Given the description of an element on the screen output the (x, y) to click on. 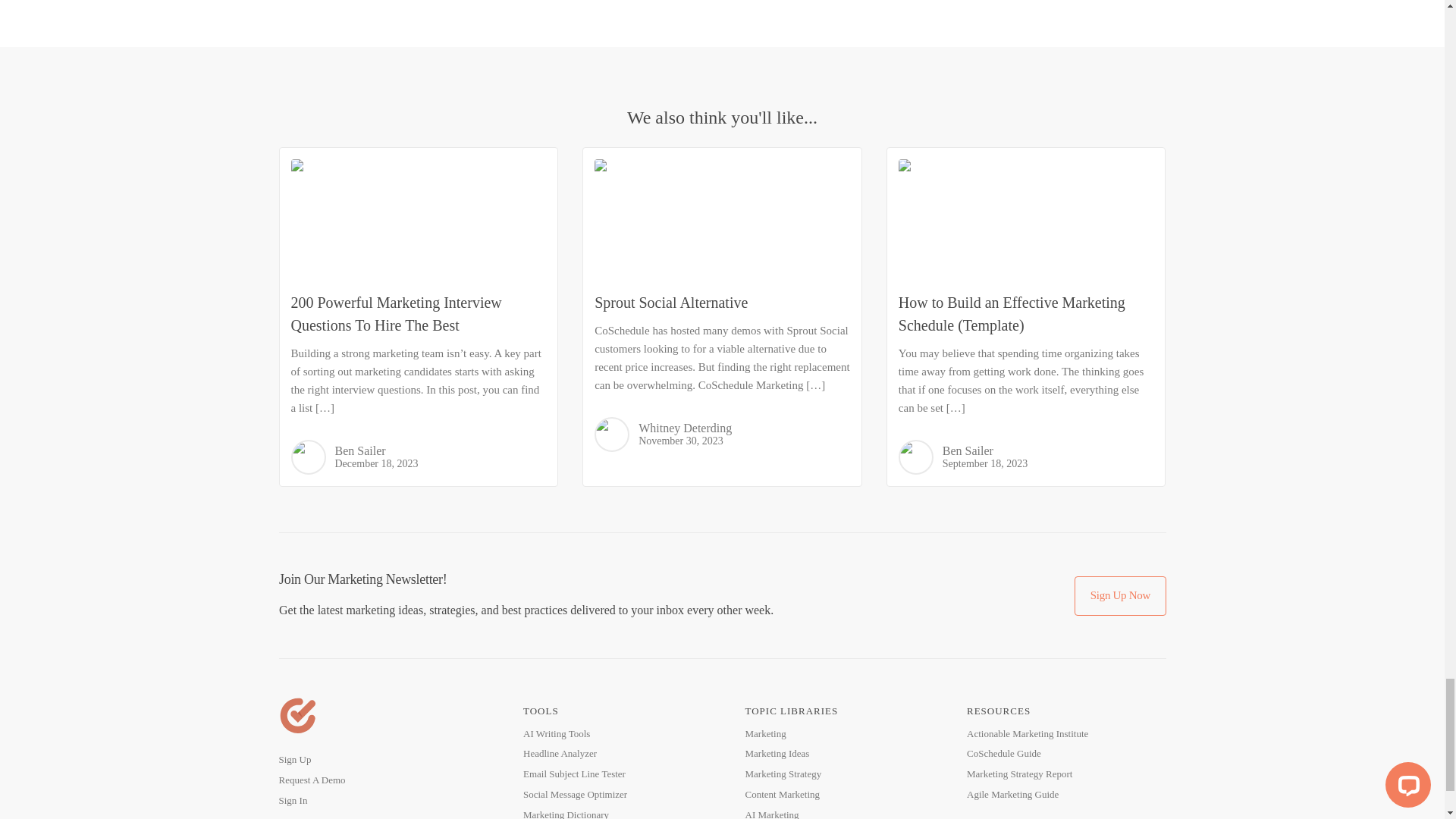
Email Subject Line Tester (574, 773)
Sign Up Now (1120, 595)
Social Message Optimizer (574, 794)
Headline Analyzer (559, 753)
Marketing (765, 733)
AI Writing Tools (555, 733)
